Given the description of an element on the screen output the (x, y) to click on. 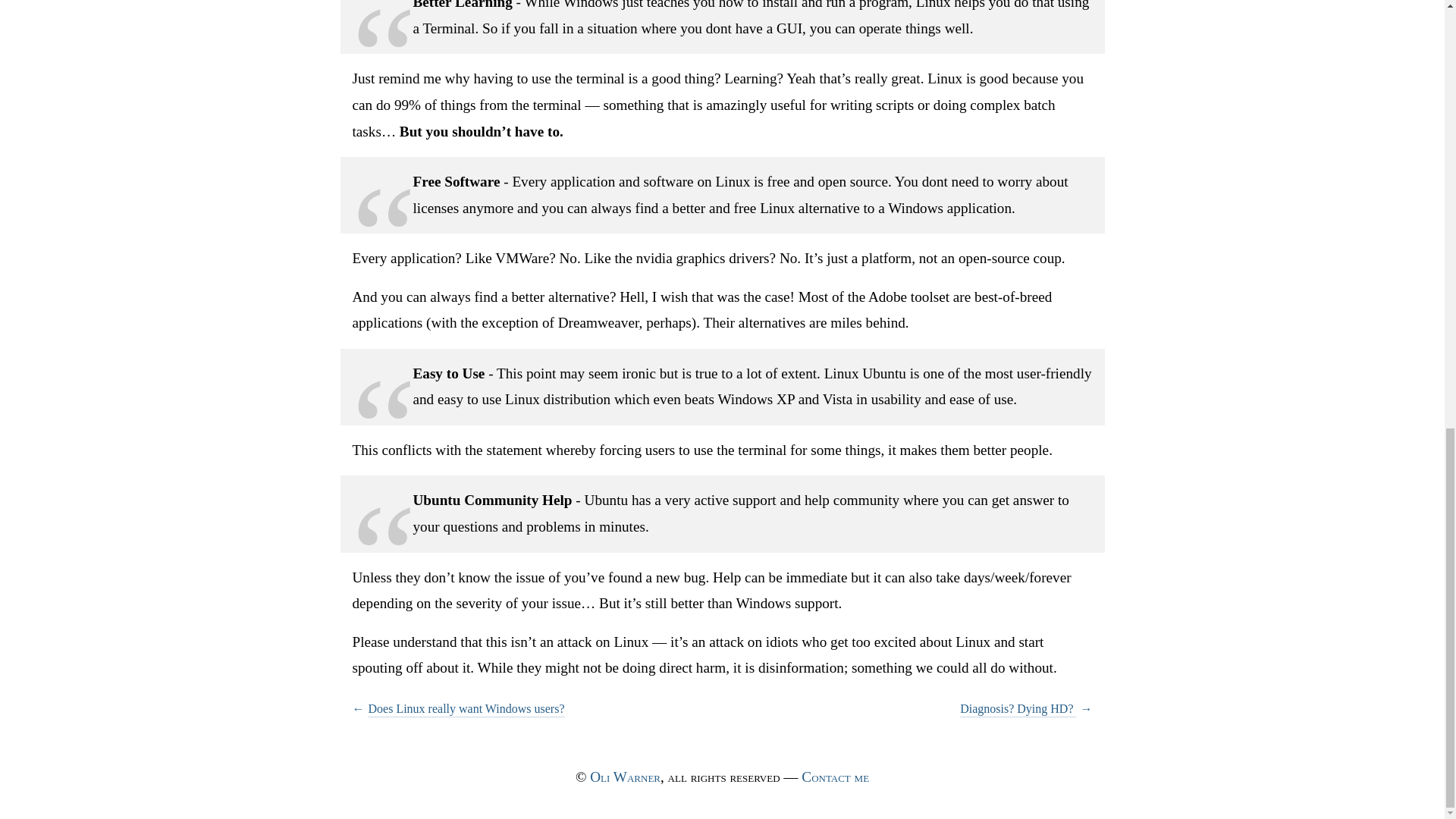
Contact me (835, 776)
Diagnosis? Dying HD? (930, 709)
Oli Warner (625, 776)
Does Linux really want Windows users? (553, 709)
